Given the description of an element on the screen output the (x, y) to click on. 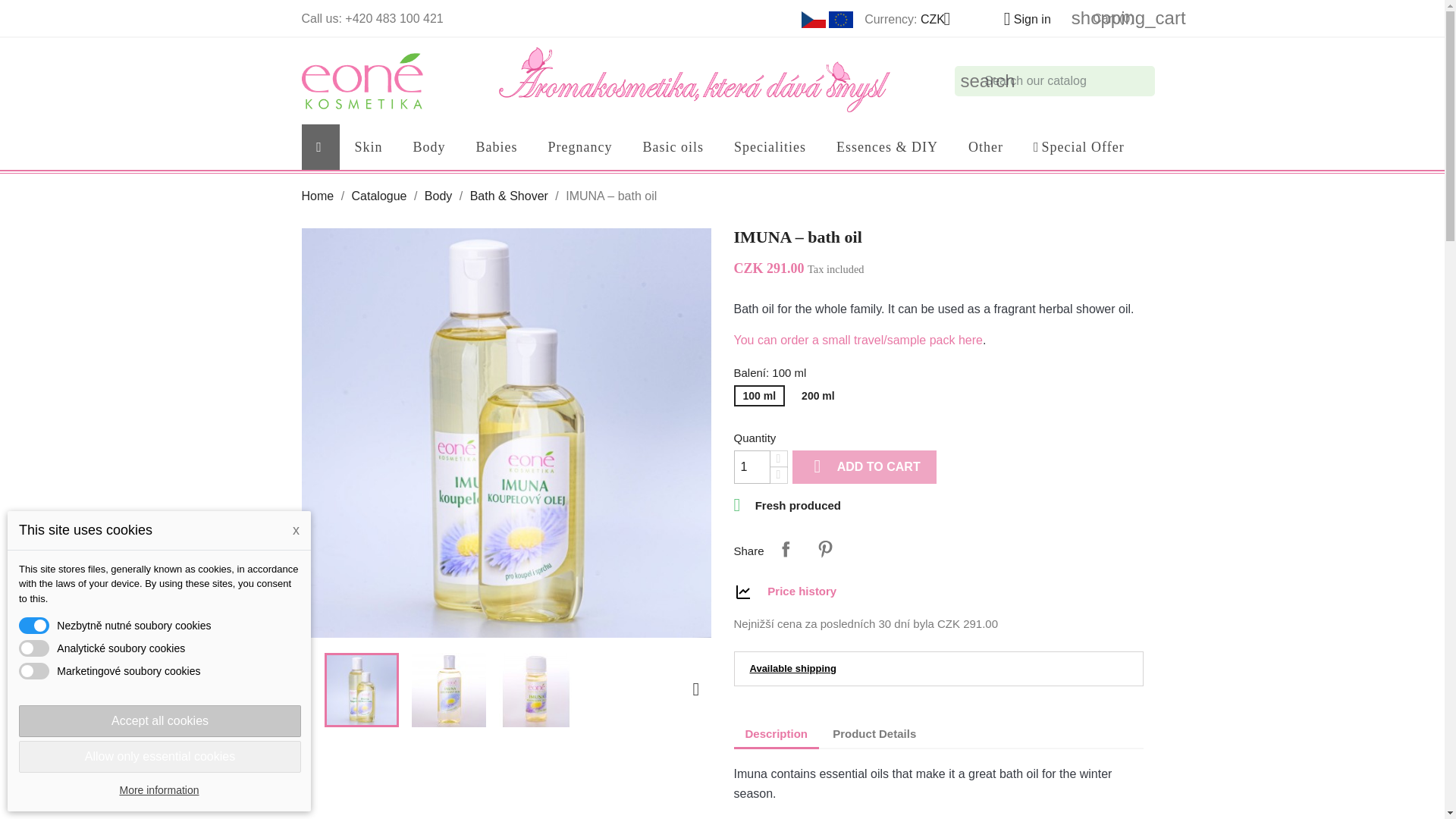
Log in to your customer account (1020, 19)
Skin (368, 146)
Specialities (770, 146)
Price history (801, 590)
Special Offer (1078, 146)
Catalogue (379, 195)
Body (429, 146)
Basic oils (673, 146)
Pregnancy (579, 146)
Share (785, 548)
1 (751, 467)
Other (985, 146)
Home (317, 195)
Body (438, 195)
Share (785, 548)
